Given the description of an element on the screen output the (x, y) to click on. 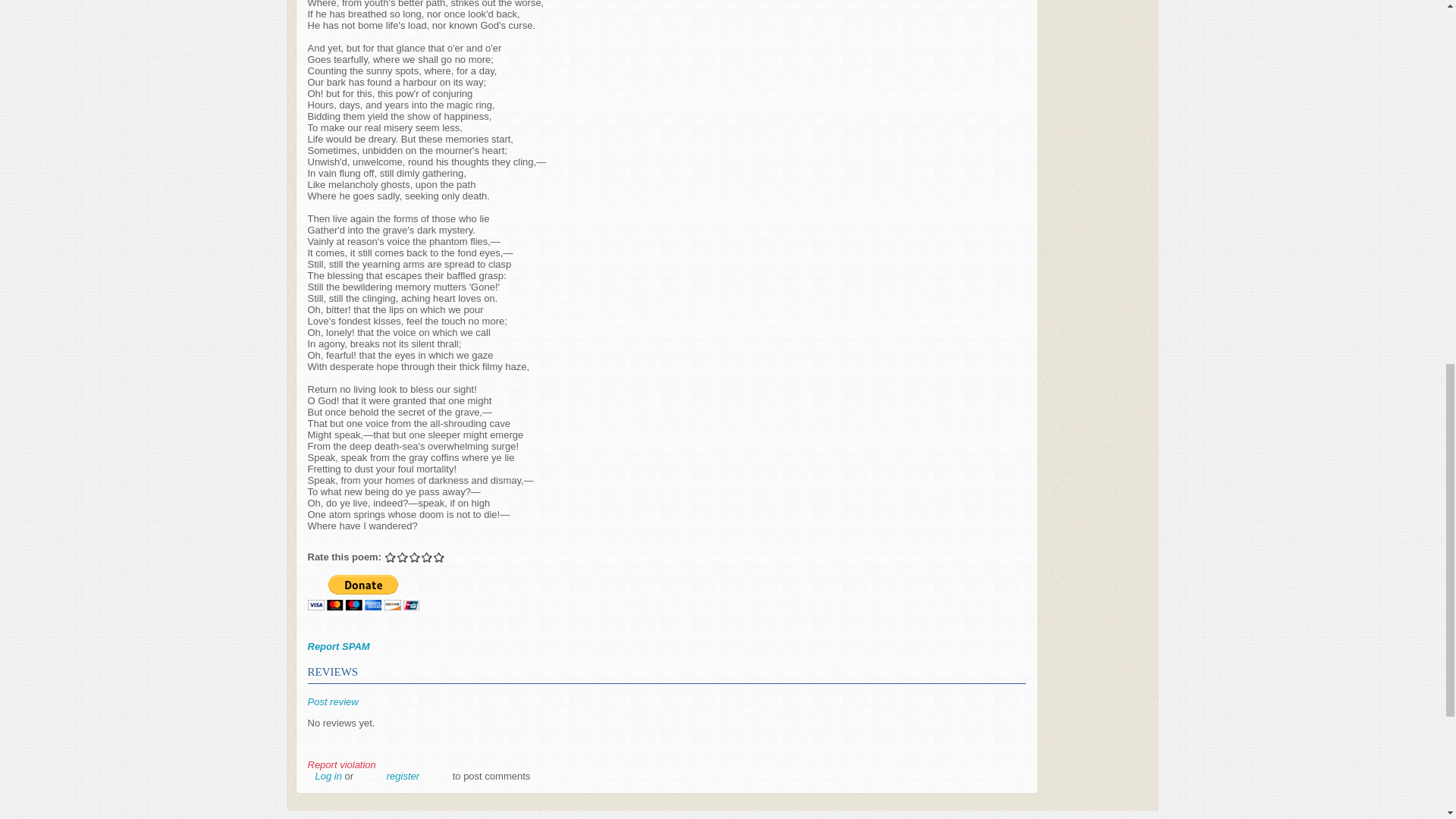
Log in (328, 776)
Report violation (341, 764)
Report SPAM (338, 645)
register (402, 776)
PayPal - The safer, easier way to pay online! (363, 592)
Post review (332, 701)
